Given the description of an element on the screen output the (x, y) to click on. 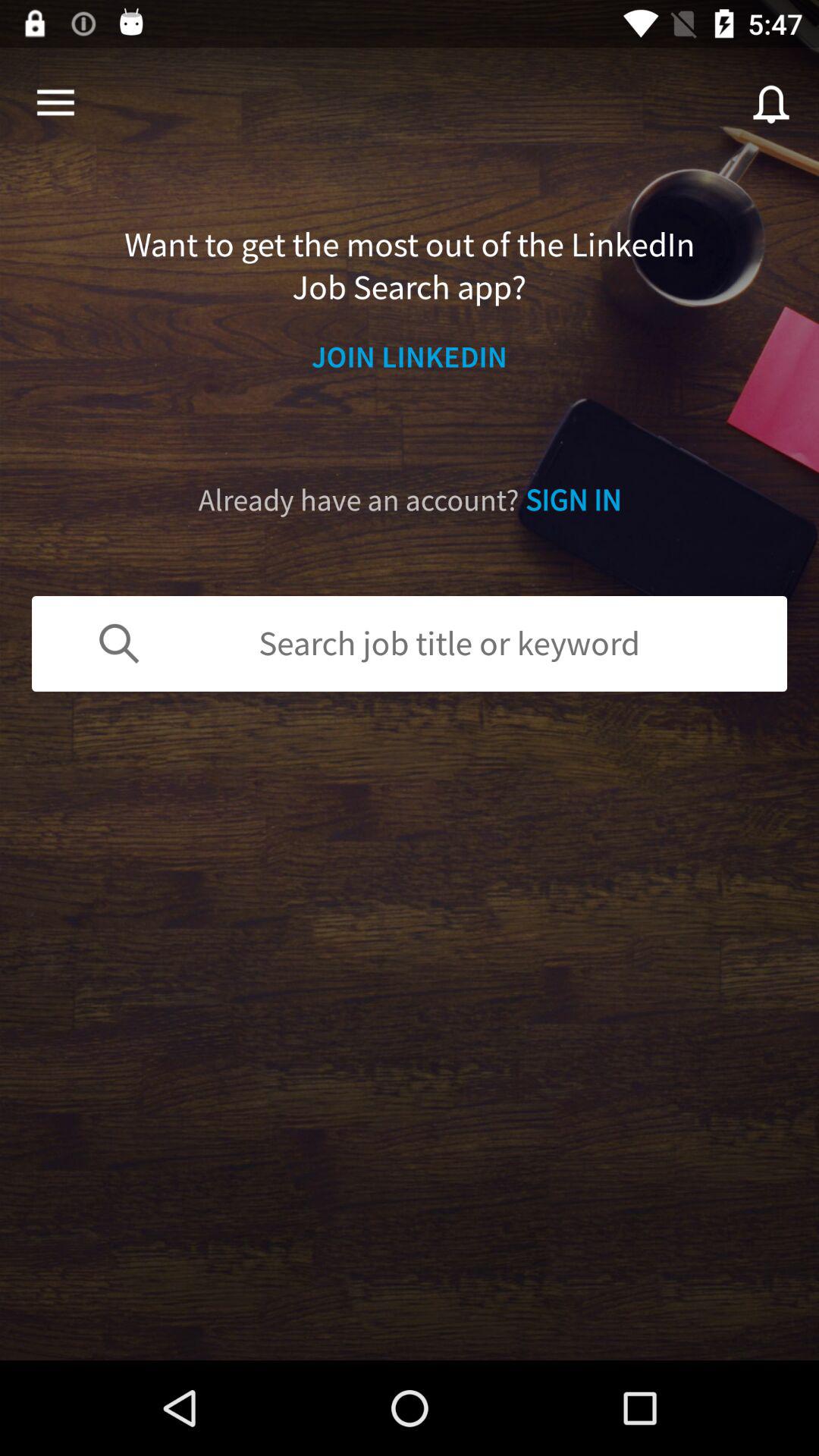
select the item above already have an (409, 356)
